Given the description of an element on the screen output the (x, y) to click on. 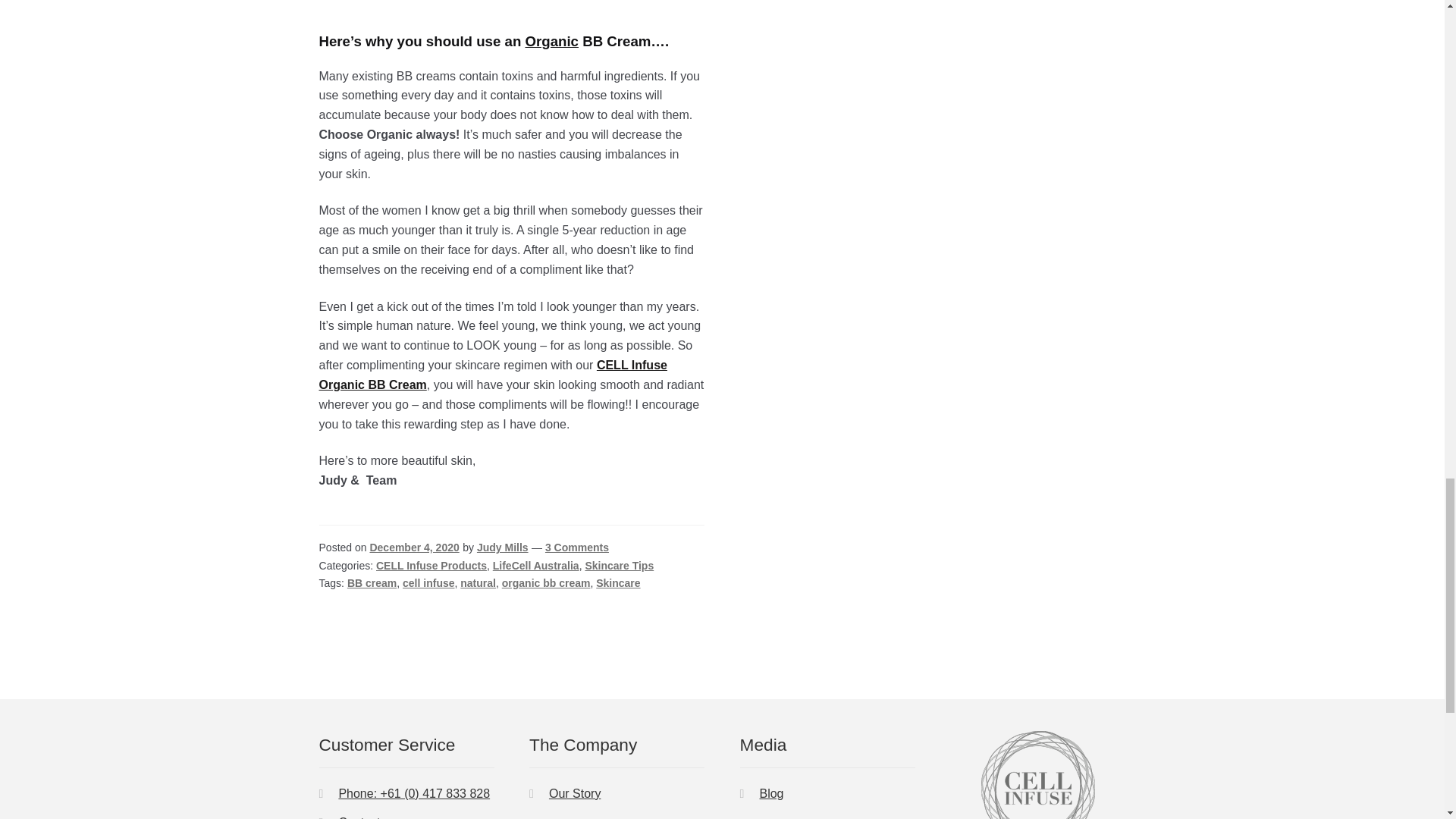
CELL Infuse Organic BB Cream (492, 374)
3 Comments (576, 547)
Our Story (573, 793)
LifeCell Australia (536, 565)
cell infuse (428, 582)
organic bb cream (546, 582)
BB cream (371, 582)
Blog (770, 793)
Contact (358, 817)
December 4, 2020 (413, 547)
